Given the description of an element on the screen output the (x, y) to click on. 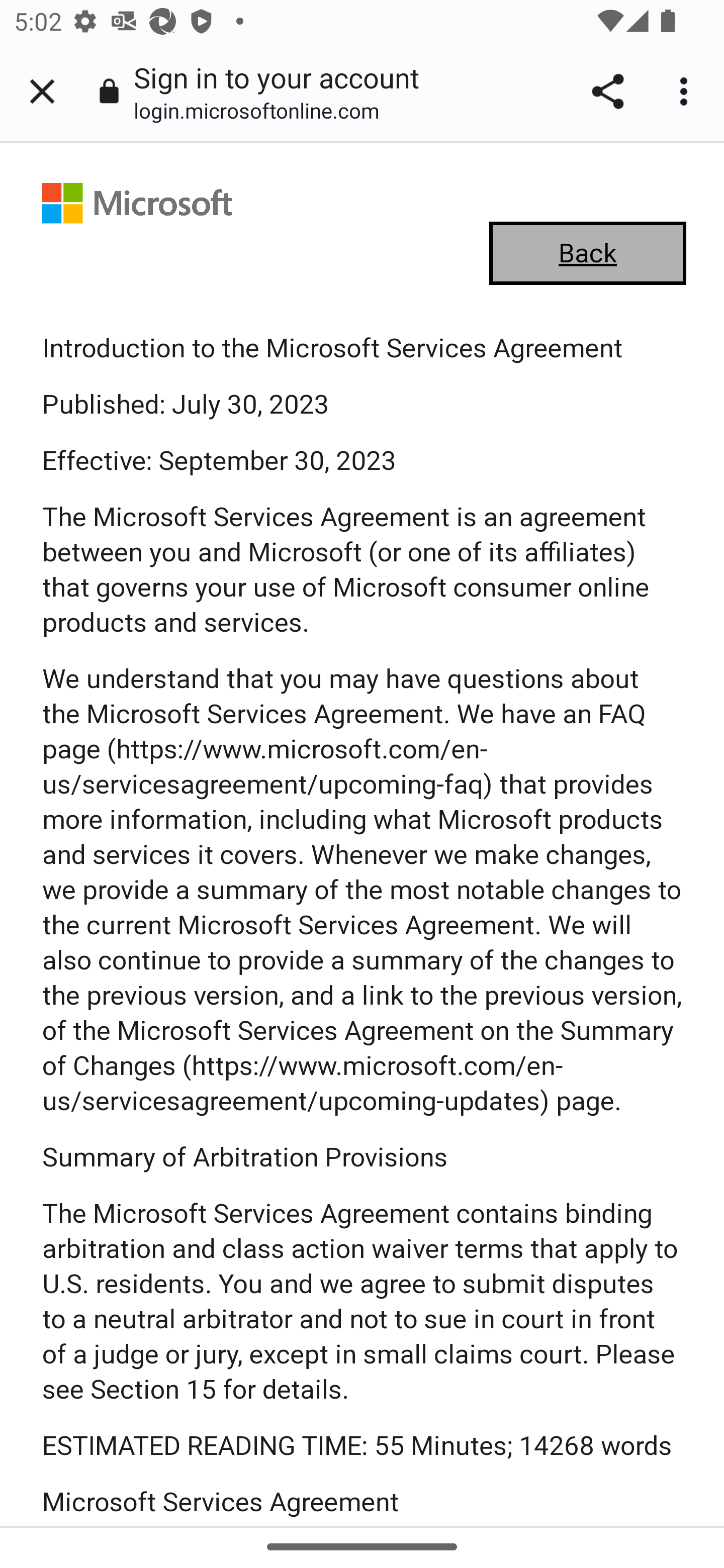
Close tab (42, 91)
Share (607, 91)
More options (687, 91)
Connection is secure (108, 90)
login.microsoftonline.com (263, 109)
Back (588, 253)
